Given the description of an element on the screen output the (x, y) to click on. 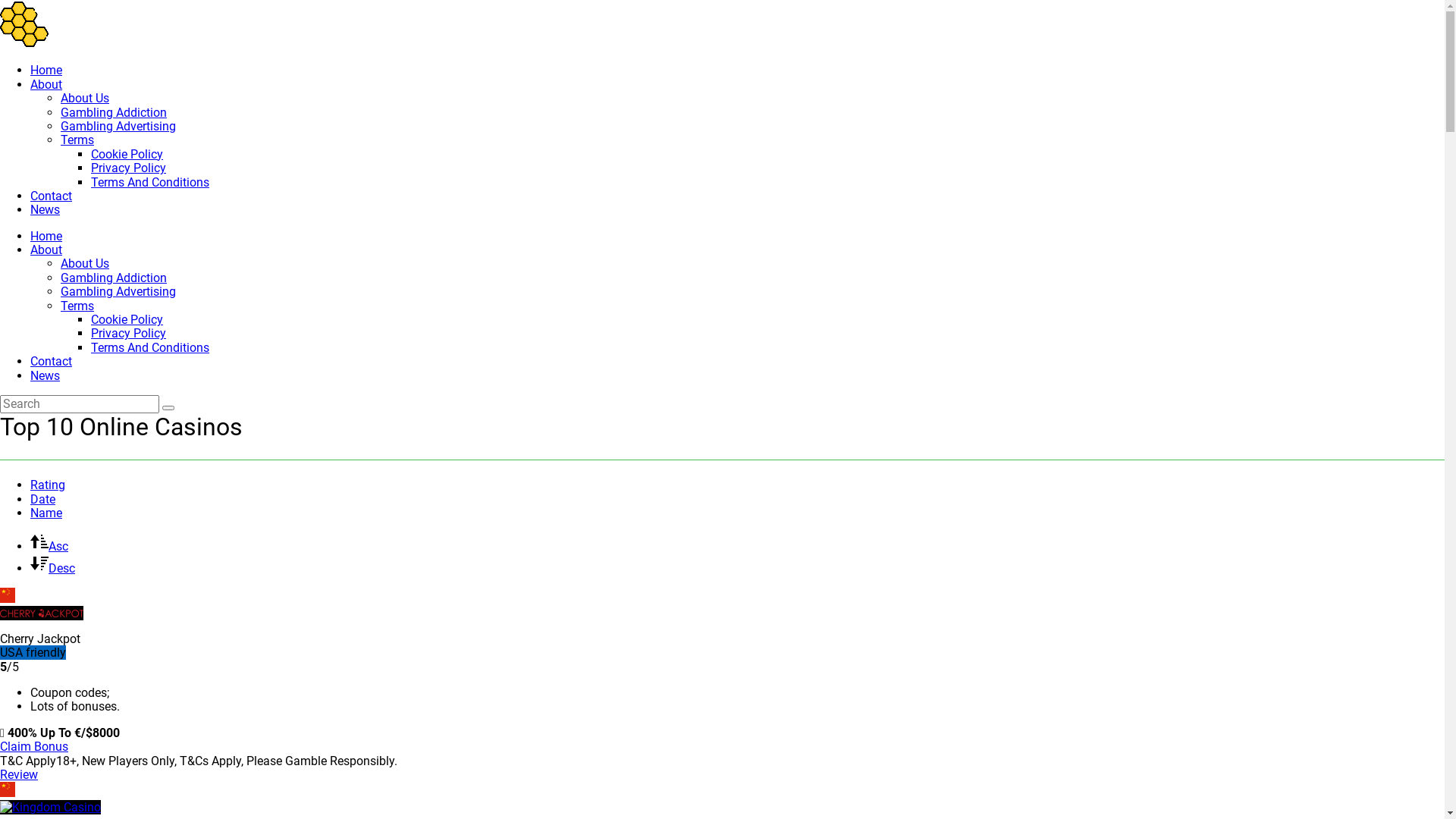
Cookie Policy Element type: text (127, 154)
Home Element type: text (46, 236)
Privacy Policy Element type: text (128, 333)
Privacy Policy Element type: text (128, 167)
News Element type: text (44, 375)
Gambling Addiction Element type: text (113, 112)
About Us Element type: text (84, 263)
Contact Element type: text (51, 195)
About Element type: text (46, 84)
Terms And Conditions Element type: text (150, 347)
About Us Element type: text (84, 98)
About Element type: text (46, 249)
Gambling Addiction Element type: text (113, 277)
Home Element type: text (46, 69)
Terms Element type: text (77, 139)
Date Element type: text (42, 499)
Terms Element type: text (77, 305)
Contact Element type: text (51, 361)
Desc Element type: text (52, 568)
Review Element type: text (18, 774)
Cookie Policy Element type: text (127, 319)
Claim Bonus Element type: text (34, 746)
News Element type: text (44, 209)
Gambling Advertising Element type: text (117, 126)
Rating Element type: text (47, 484)
Terms And Conditions Element type: text (150, 182)
Gambling Advertising Element type: text (117, 291)
Name Element type: text (46, 512)
Asc Element type: text (49, 546)
